Given the description of an element on the screen output the (x, y) to click on. 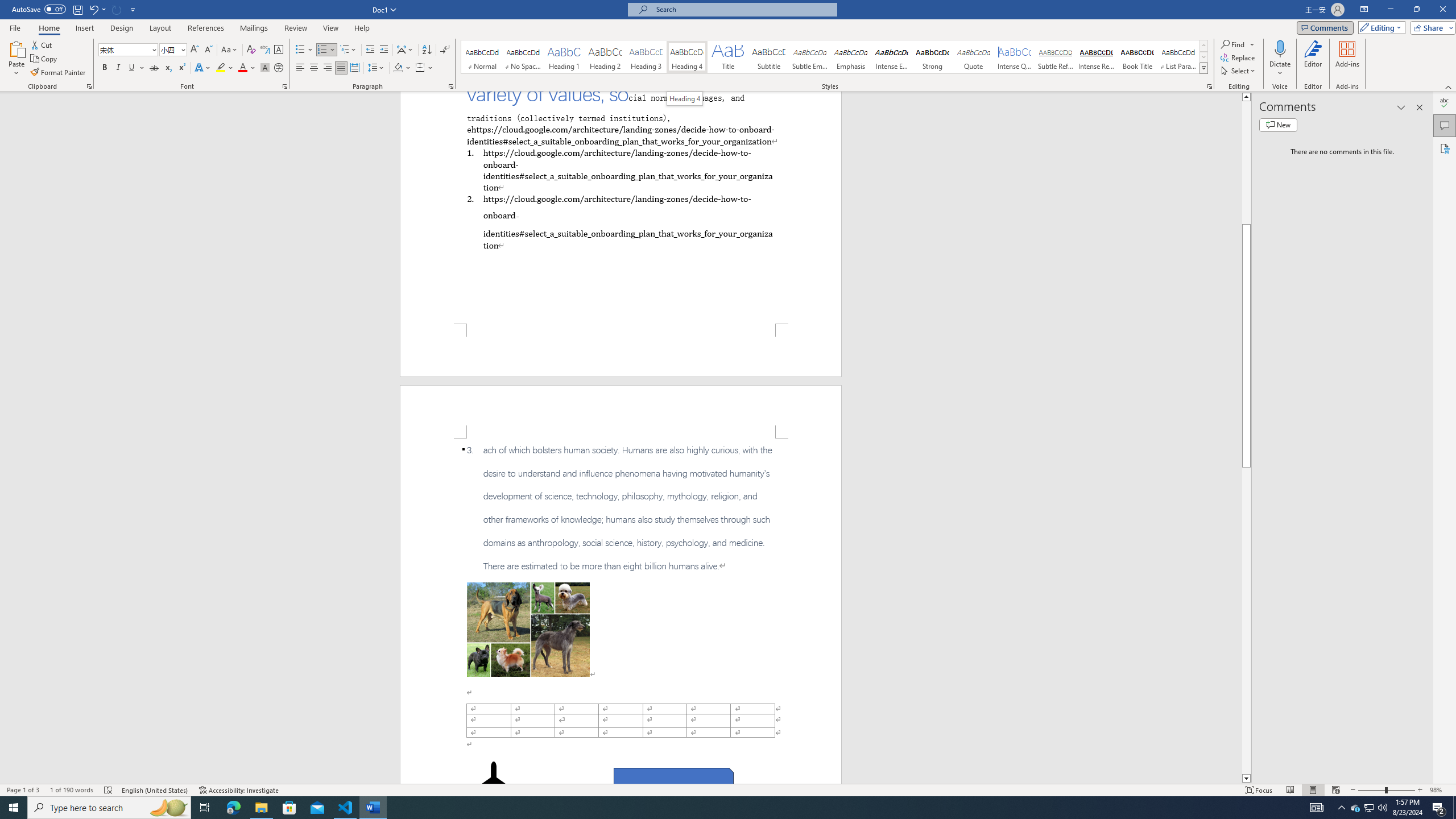
Bold (104, 67)
Zoom (1386, 790)
Show/Hide Editing Marks (444, 49)
Accessibility (1444, 147)
Save (77, 9)
Class: NetUIScrollBar (1245, 437)
Collapse the Ribbon (1448, 86)
Read Mode (1290, 790)
Web Layout (1335, 790)
Bullets (300, 49)
Font Size (169, 49)
Clear Formatting (250, 49)
Multilevel List (347, 49)
Dictate (1280, 48)
